Given the description of an element on the screen output the (x, y) to click on. 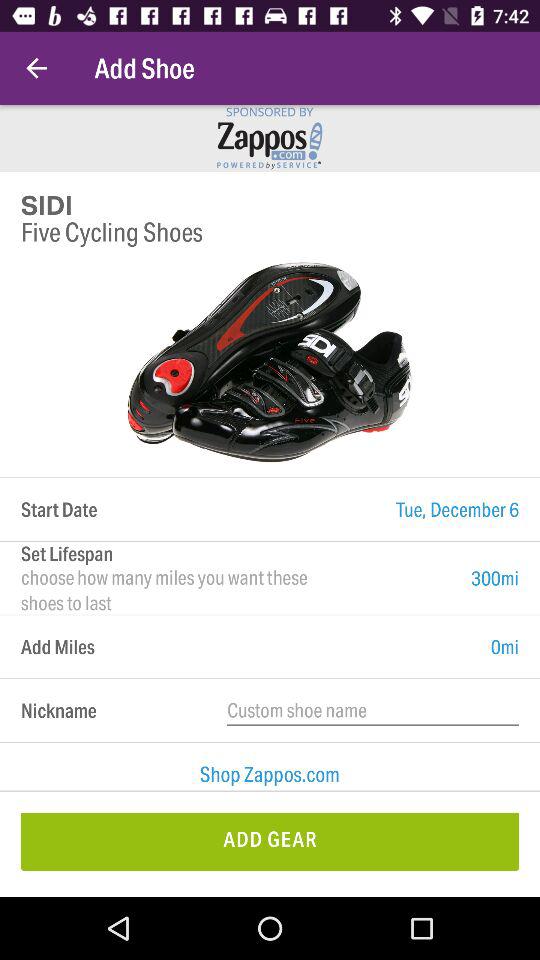
turn off the icon above sidi (36, 68)
